Given the description of an element on the screen output the (x, y) to click on. 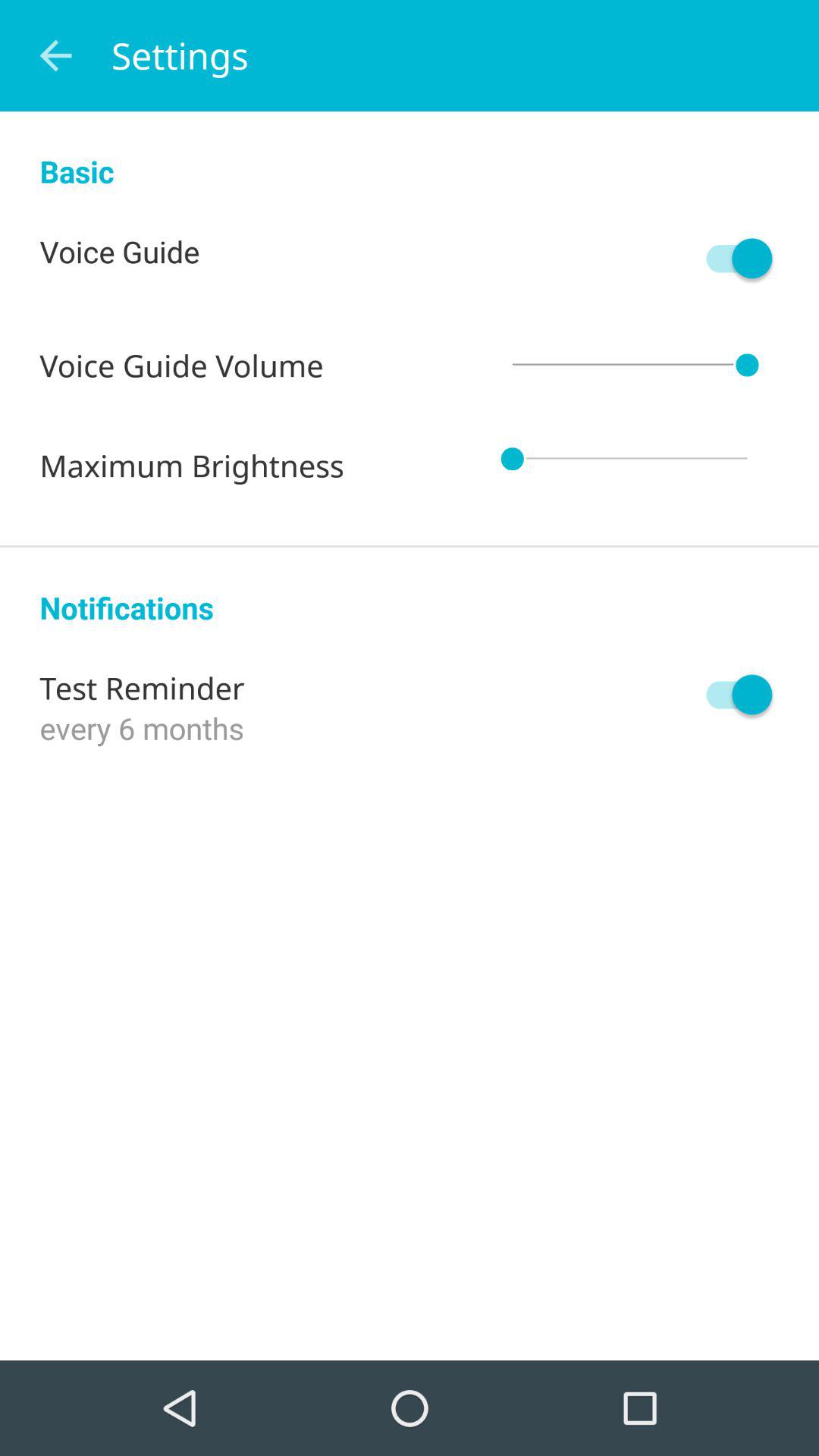
turn off icon to the right of test reminder (731, 694)
